Given the description of an element on the screen output the (x, y) to click on. 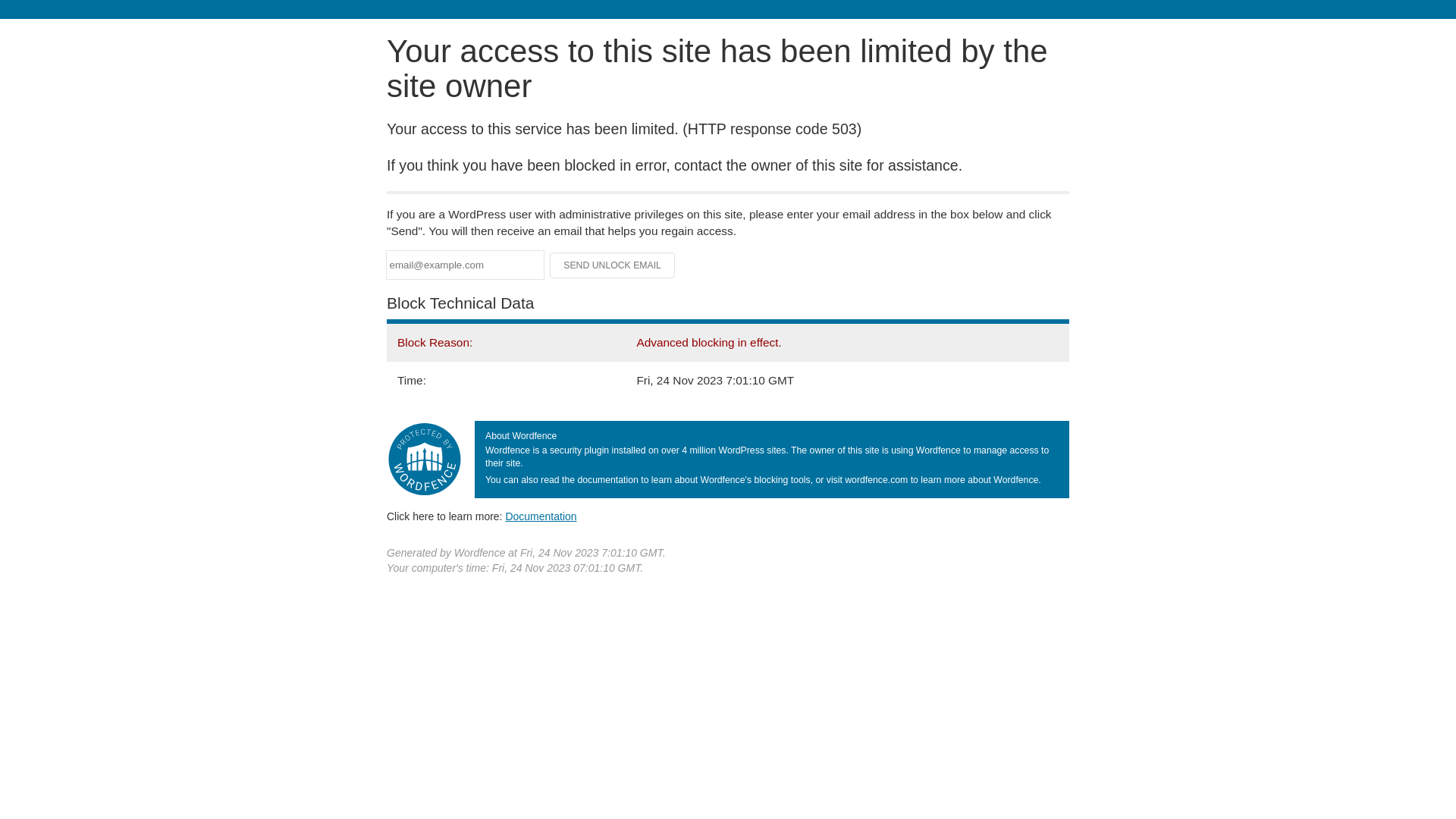
Documentation Element type: text (540, 516)
Send Unlock Email Element type: text (612, 265)
